Given the description of an element on the screen output the (x, y) to click on. 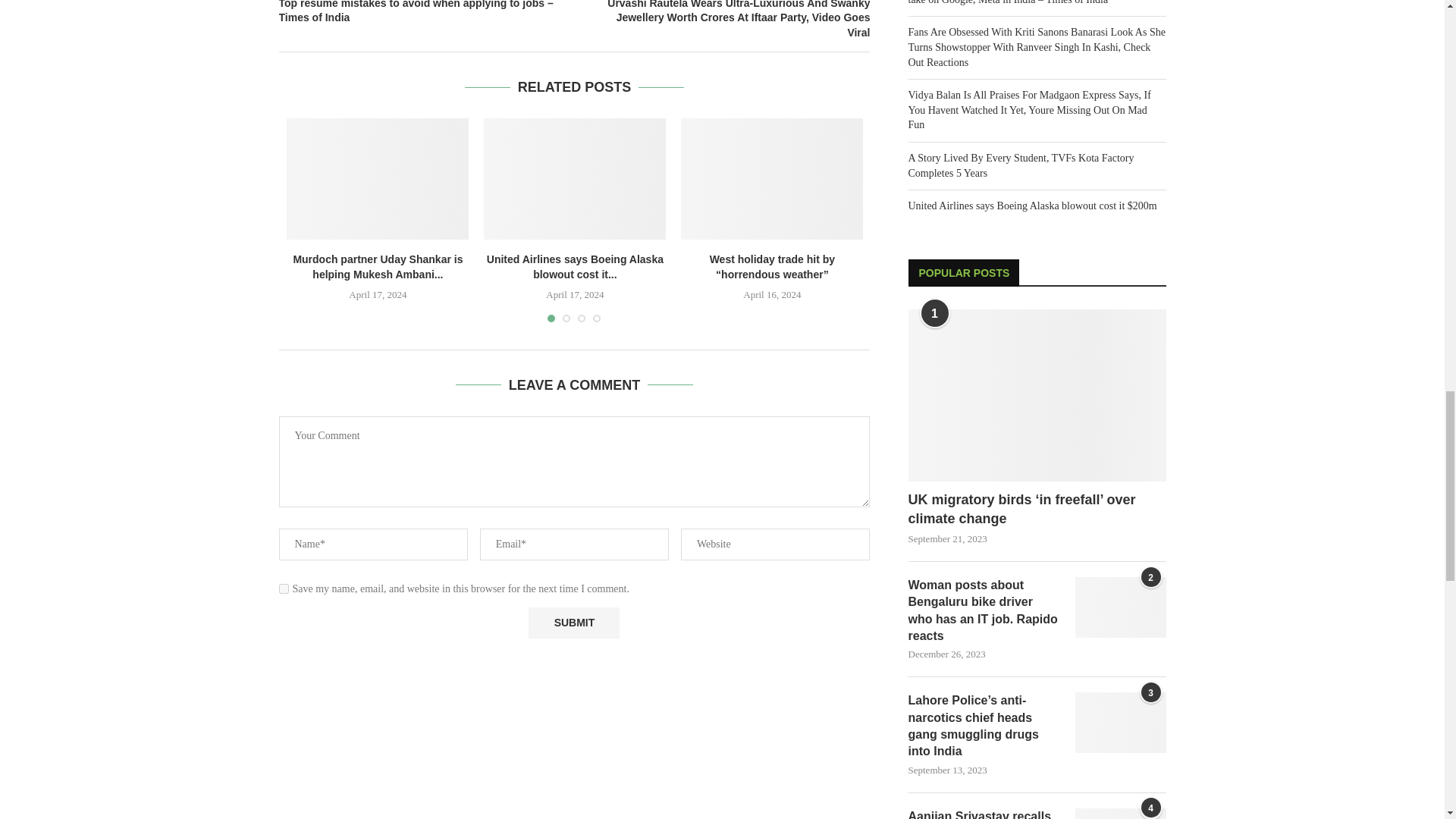
Submit (574, 622)
yes (283, 588)
